Given the description of an element on the screen output the (x, y) to click on. 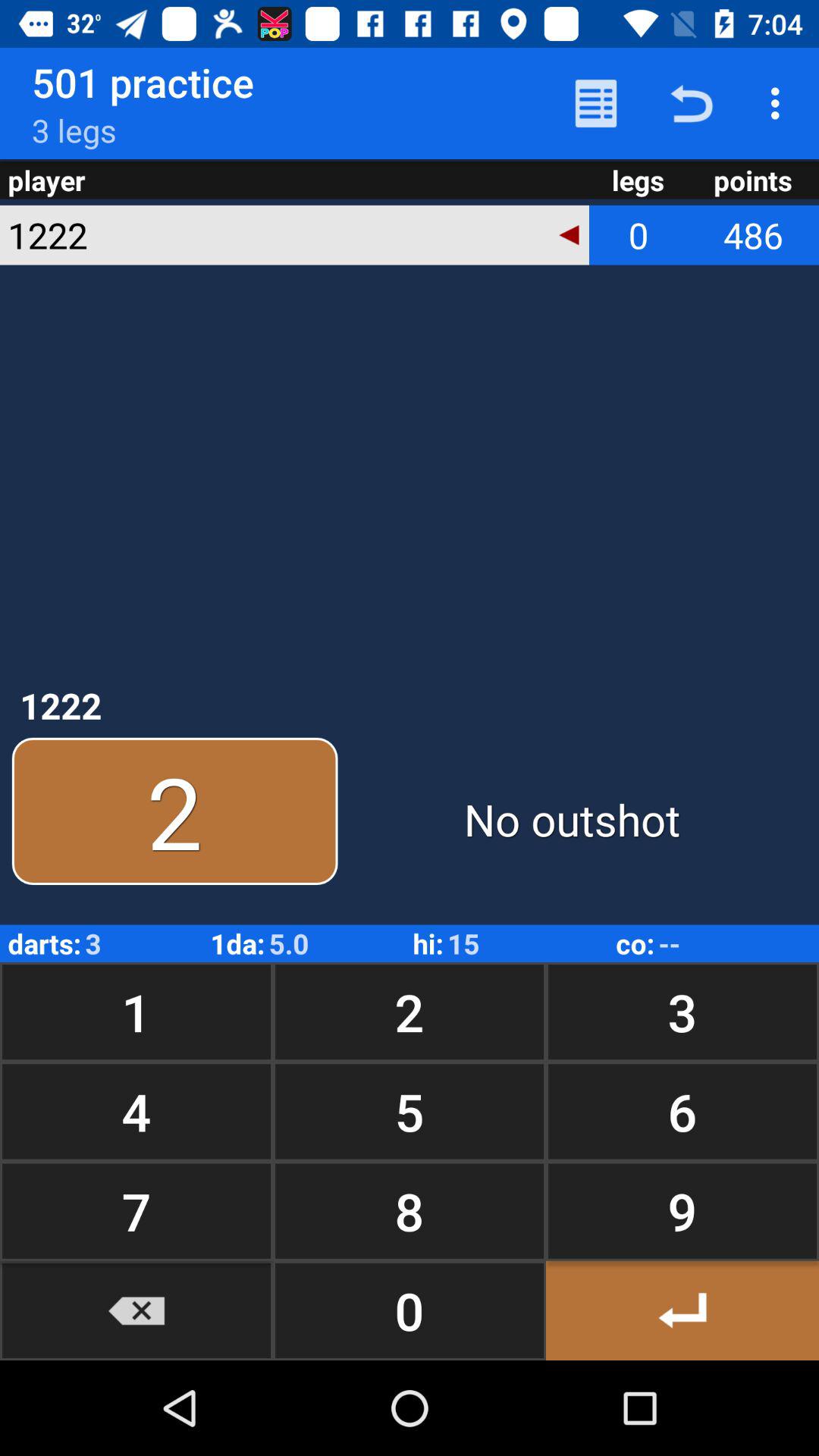
click item below 7 icon (136, 1310)
